Given the description of an element on the screen output the (x, y) to click on. 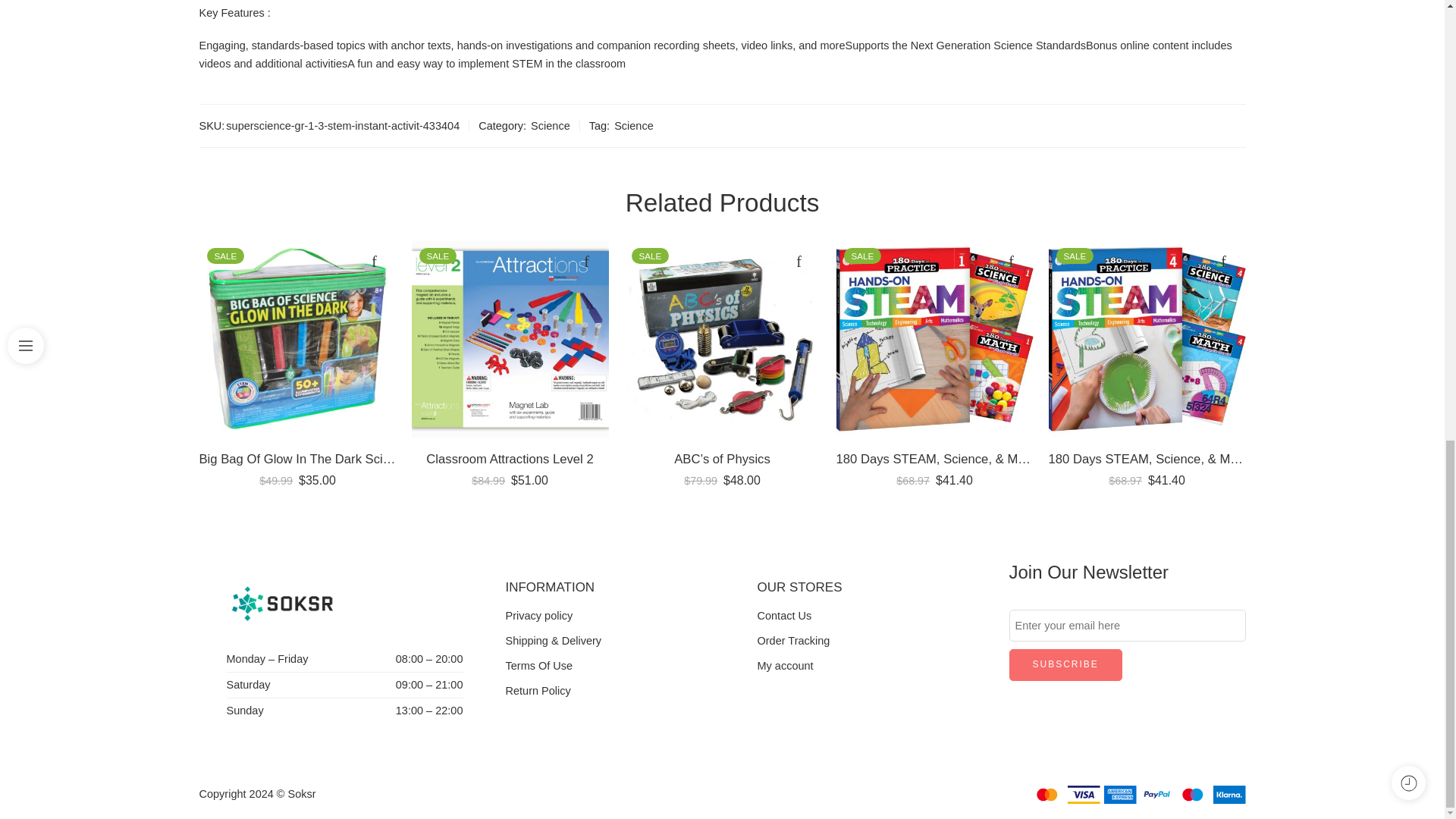
SUBSCRIBE (1065, 664)
